Given the description of an element on the screen output the (x, y) to click on. 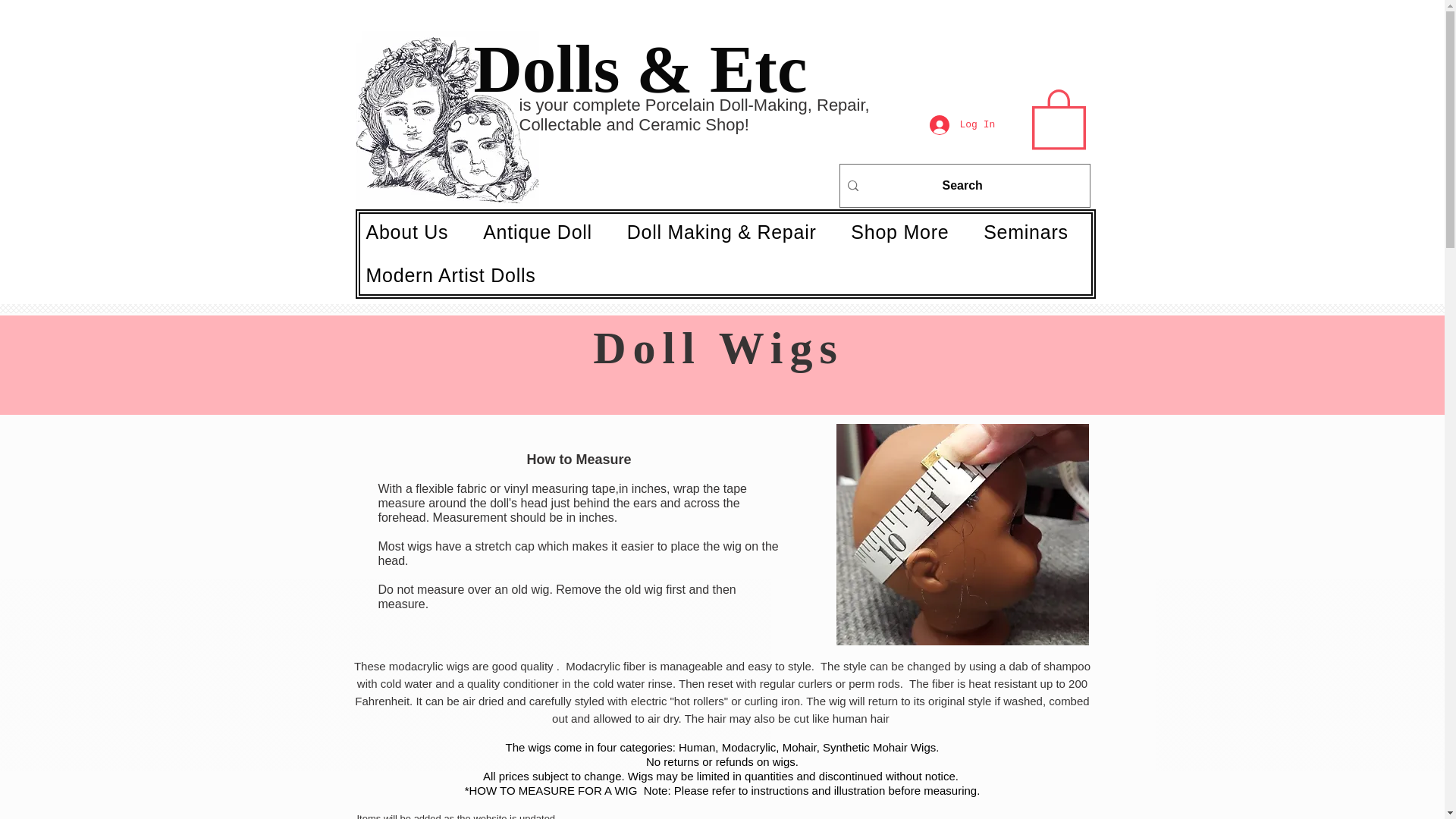
About Us (414, 231)
Shop More (907, 231)
Seminars (1033, 231)
Log In (949, 124)
